Given the description of an element on the screen output the (x, y) to click on. 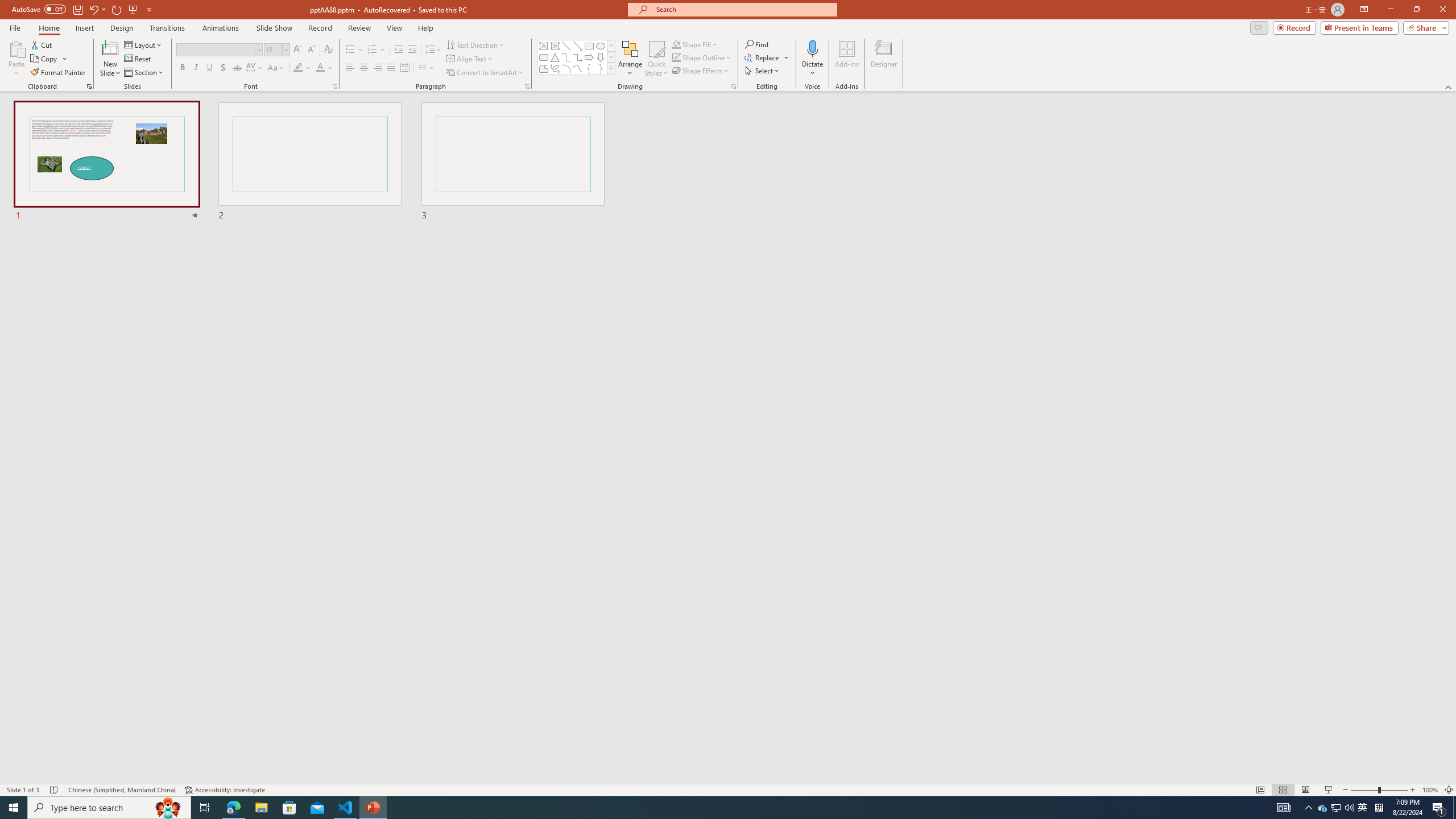
Character Spacing (254, 67)
Paragraph... (526, 85)
Decrease Font Size (310, 49)
Left Brace (589, 68)
Select (762, 69)
Line (566, 45)
Distributed (404, 67)
Change Case (276, 67)
